Given the description of an element on the screen output the (x, y) to click on. 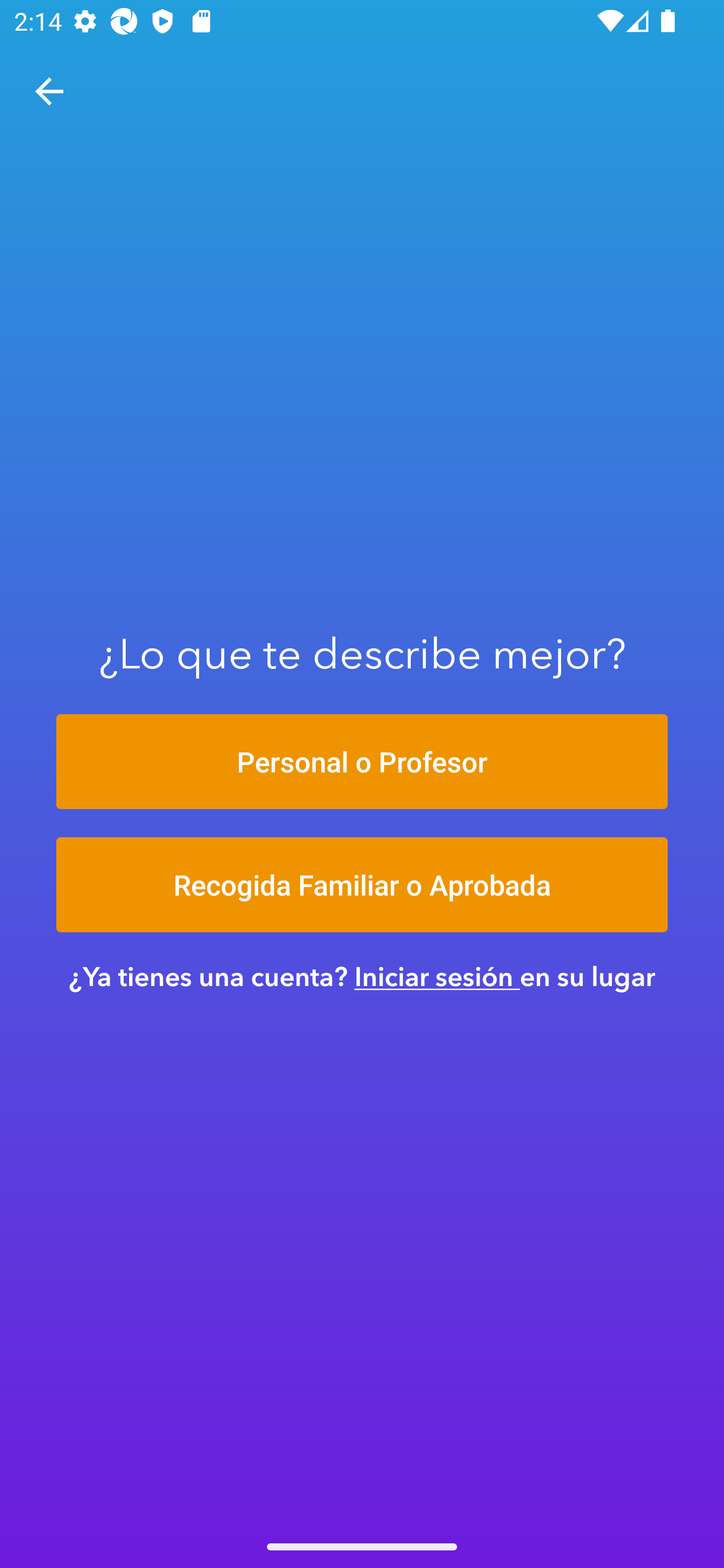
Navegar hacia arriba (49, 91)
Personal o Profesor (361, 761)
Recogida Familiar o Aprobada (361, 884)
¿Ya tienes una cuenta? Iniciar sesión en su lugar (361, 975)
